Given the description of an element on the screen output the (x, y) to click on. 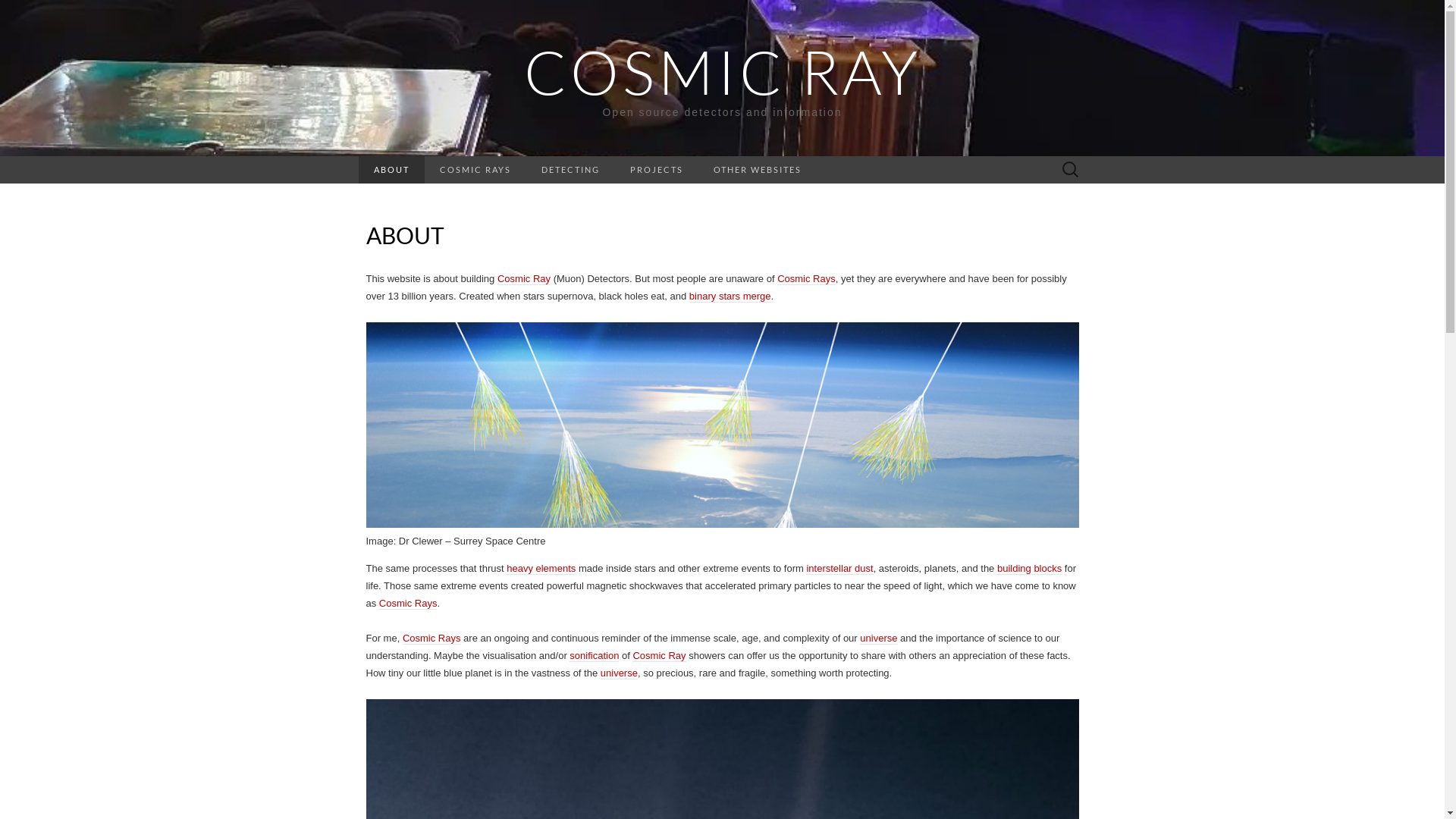
Cosmic Rays Element type: text (806, 279)
sonification Element type: text (593, 655)
ABOUT Element type: text (390, 169)
Cosmic Rays Element type: text (408, 603)
PROJECTS Element type: text (655, 169)
DETECTING Element type: text (570, 169)
COSMIC RAYS Element type: text (475, 169)
building blocks Element type: text (1029, 568)
Cosmic Rays Element type: text (431, 638)
Search Element type: text (15, 12)
OTHER WEBSITES Element type: text (756, 169)
binary stars merge Element type: text (730, 296)
universe Element type: text (618, 673)
Cosmic Ray Element type: text (523, 279)
universe Element type: text (878, 638)
heavy elements Element type: text (540, 568)
interstellar dust Element type: text (839, 568)
COSMIC RAY Element type: text (721, 71)
Cosmic Ray Element type: text (658, 655)
